Given the description of an element on the screen output the (x, y) to click on. 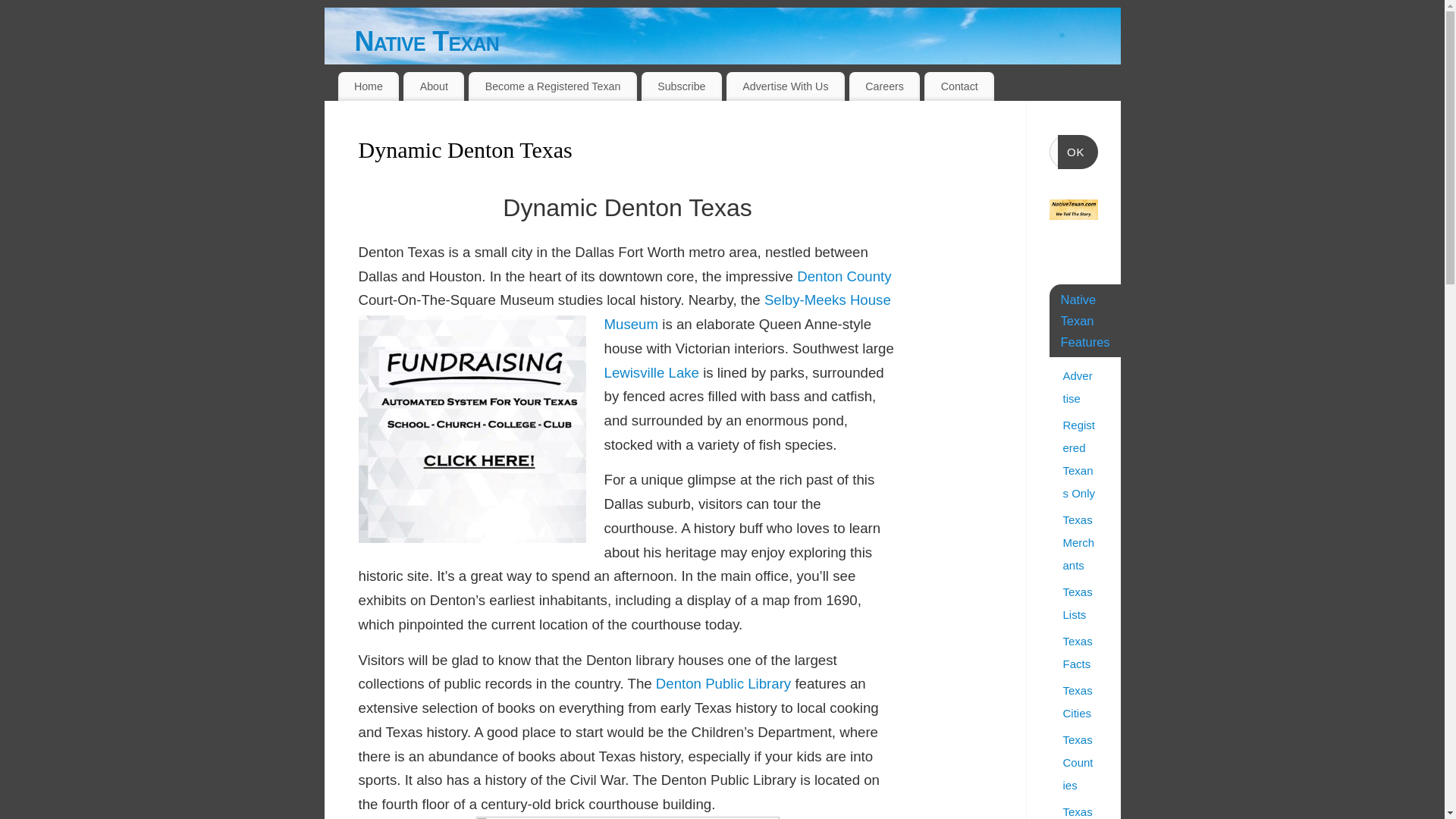
Texas History (1077, 812)
Native Texan (738, 41)
About (433, 86)
Selby Meeks House Museum (746, 311)
OK (1077, 151)
Home (367, 86)
Denton Public Library (723, 683)
Lewisville Lake (651, 372)
Selby-Meeks House Museum (746, 311)
Lewisville Lake (651, 372)
